Given the description of an element on the screen output the (x, y) to click on. 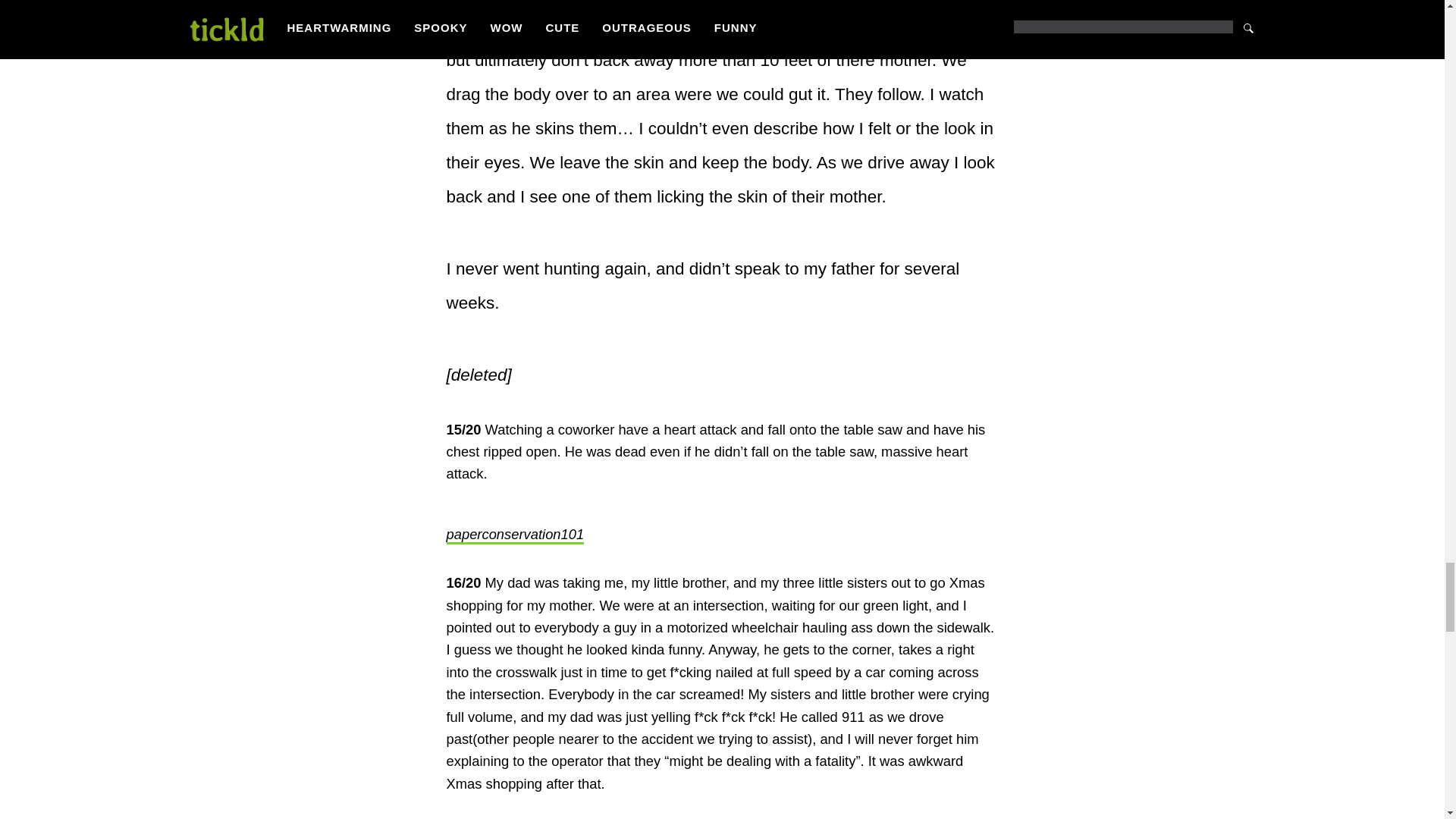
paperconservation101 (514, 535)
